Given the description of an element on the screen output the (x, y) to click on. 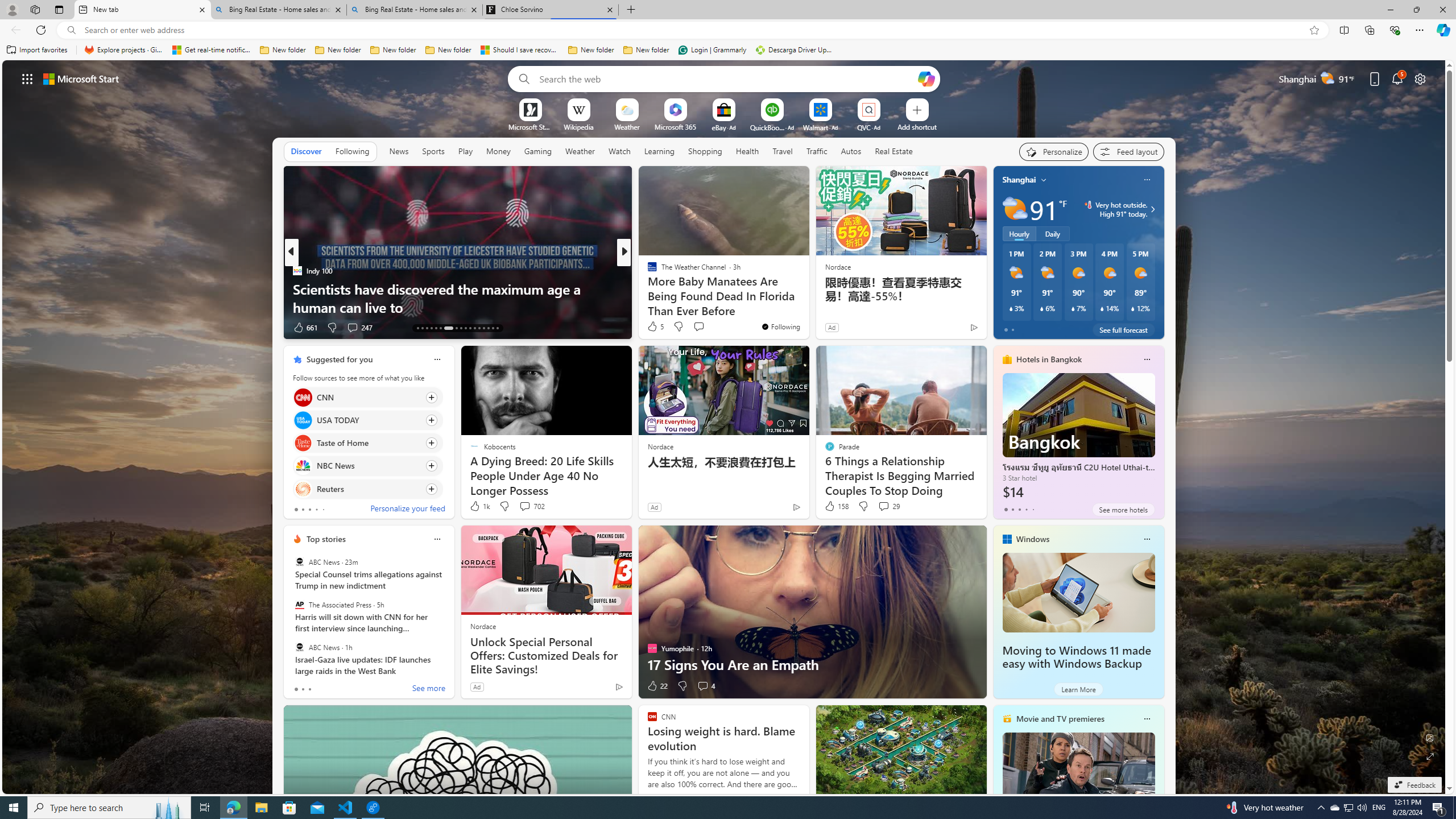
AutomationID: tab-42 (497, 328)
9 Like (651, 327)
Sports (432, 151)
Taste of Home (302, 443)
AutomationID: tab-23 (470, 328)
ABC News (299, 646)
AutomationID: tab-19 (448, 328)
Chloe Sorvino (550, 9)
75 Like (652, 327)
View comments 58 Comment (6, 327)
View comments 42 Comment (6, 327)
View comments 4 Comment (705, 685)
BuzzFeed (647, 270)
